Given the description of an element on the screen output the (x, y) to click on. 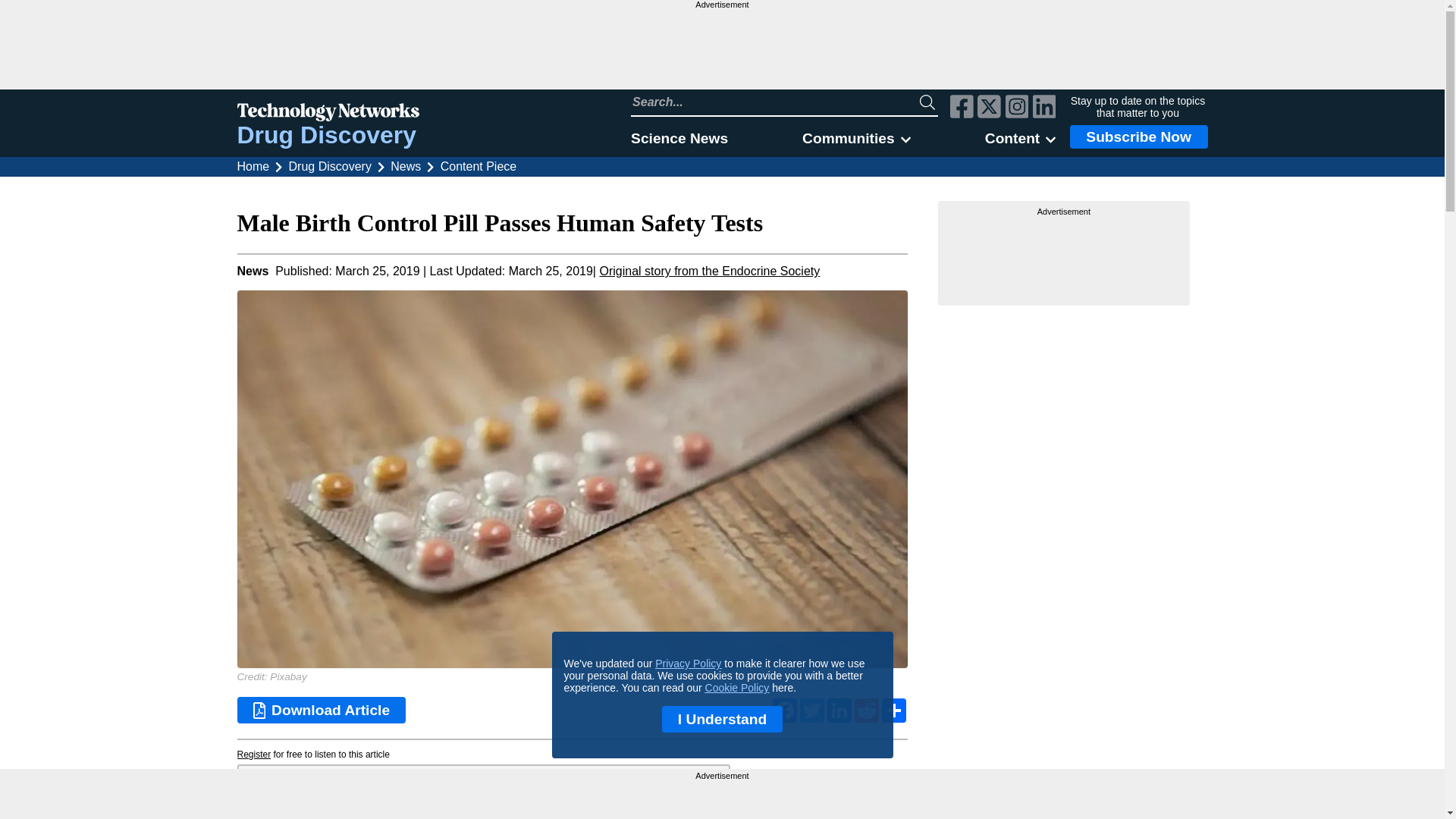
Search Technology Networks website input field (775, 102)
Click here to visit the original source for this content. (708, 270)
Technology Networks logo (327, 113)
Privacy Policy (687, 663)
Cookie Policy (737, 687)
I Understand (722, 718)
